Given the description of an element on the screen output the (x, y) to click on. 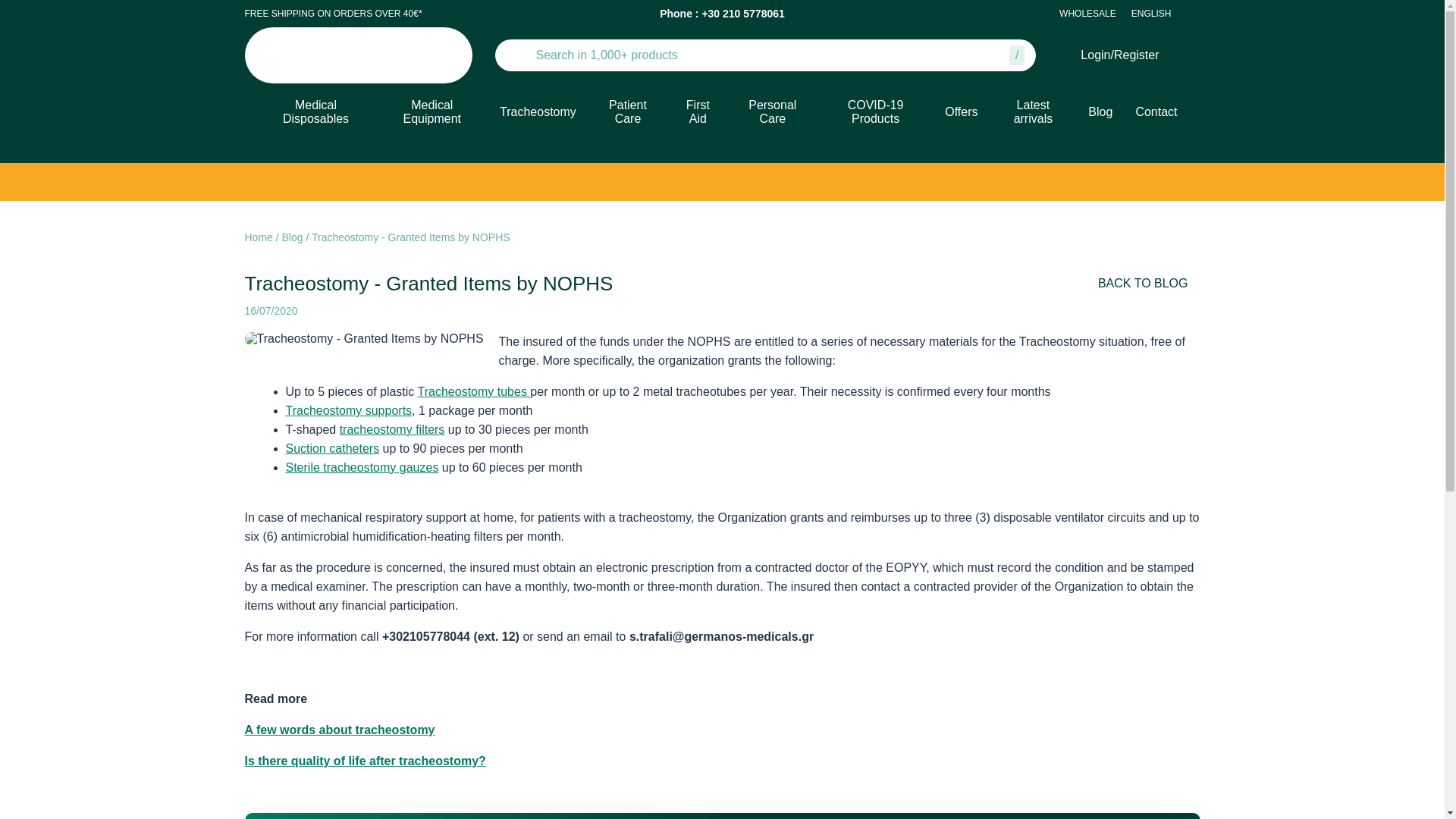
WHOLESALE (1087, 13)
Search (745, 55)
Search (515, 54)
Medical Disposables (315, 111)
